Given the description of an element on the screen output the (x, y) to click on. 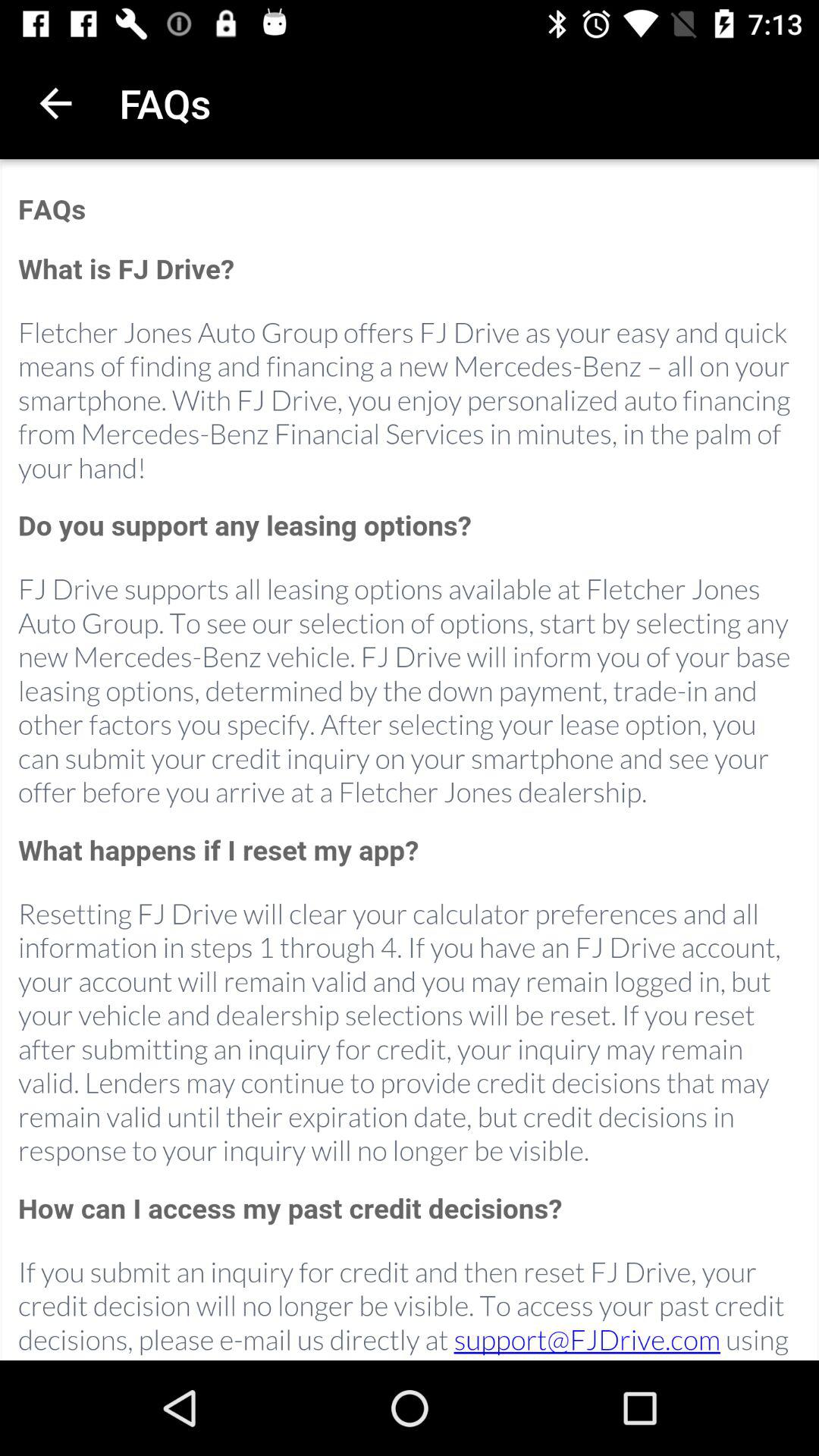
main page (409, 760)
